Given the description of an element on the screen output the (x, y) to click on. 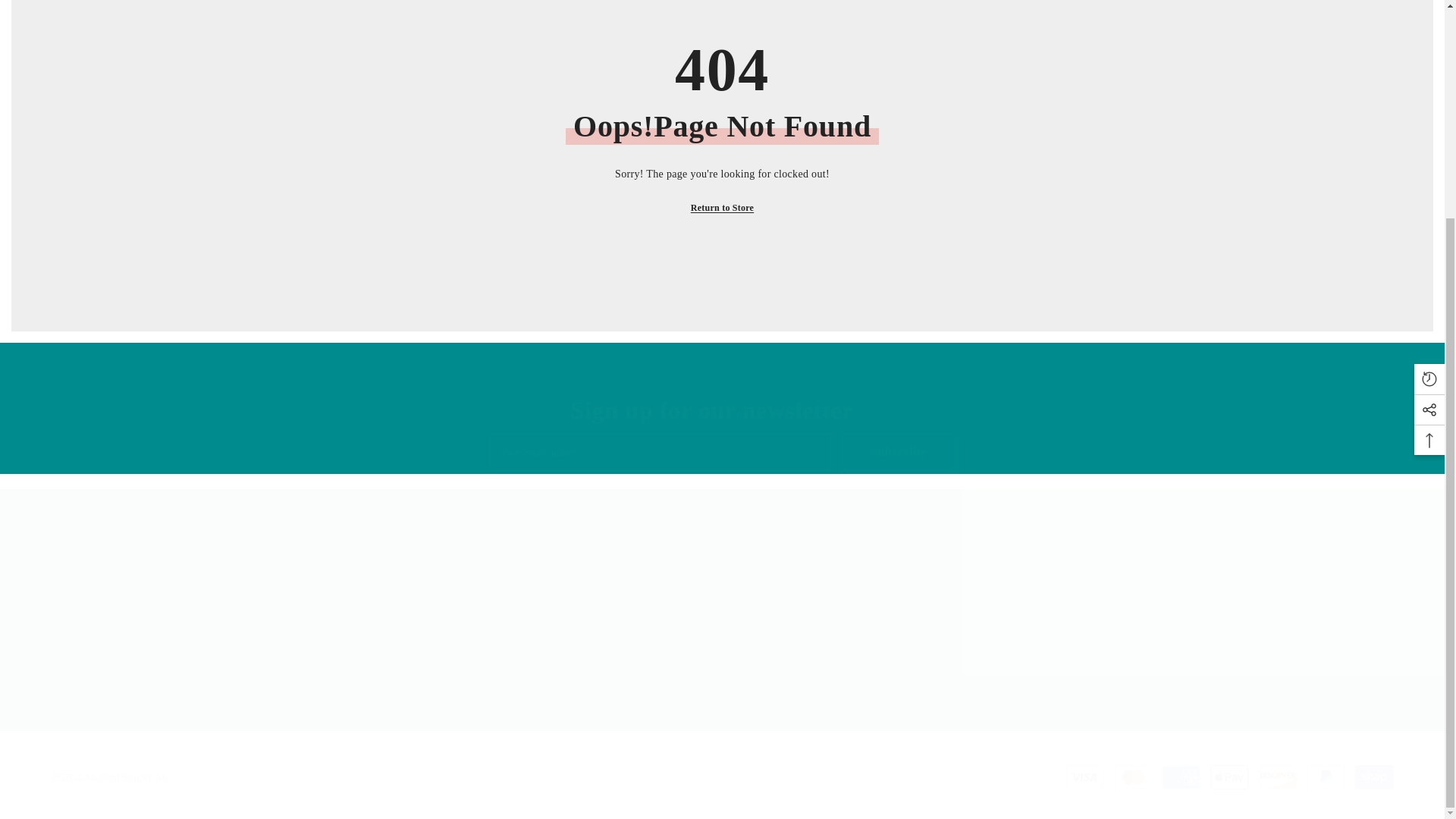
Discover (1278, 776)
PayPal (1325, 776)
Sign up for our newsletter (711, 410)
Visa (1084, 776)
Mastercard (1132, 776)
Shop Pay (722, 452)
Apple Pay (1374, 776)
American Express (1229, 776)
